Given the description of an element on the screen output the (x, y) to click on. 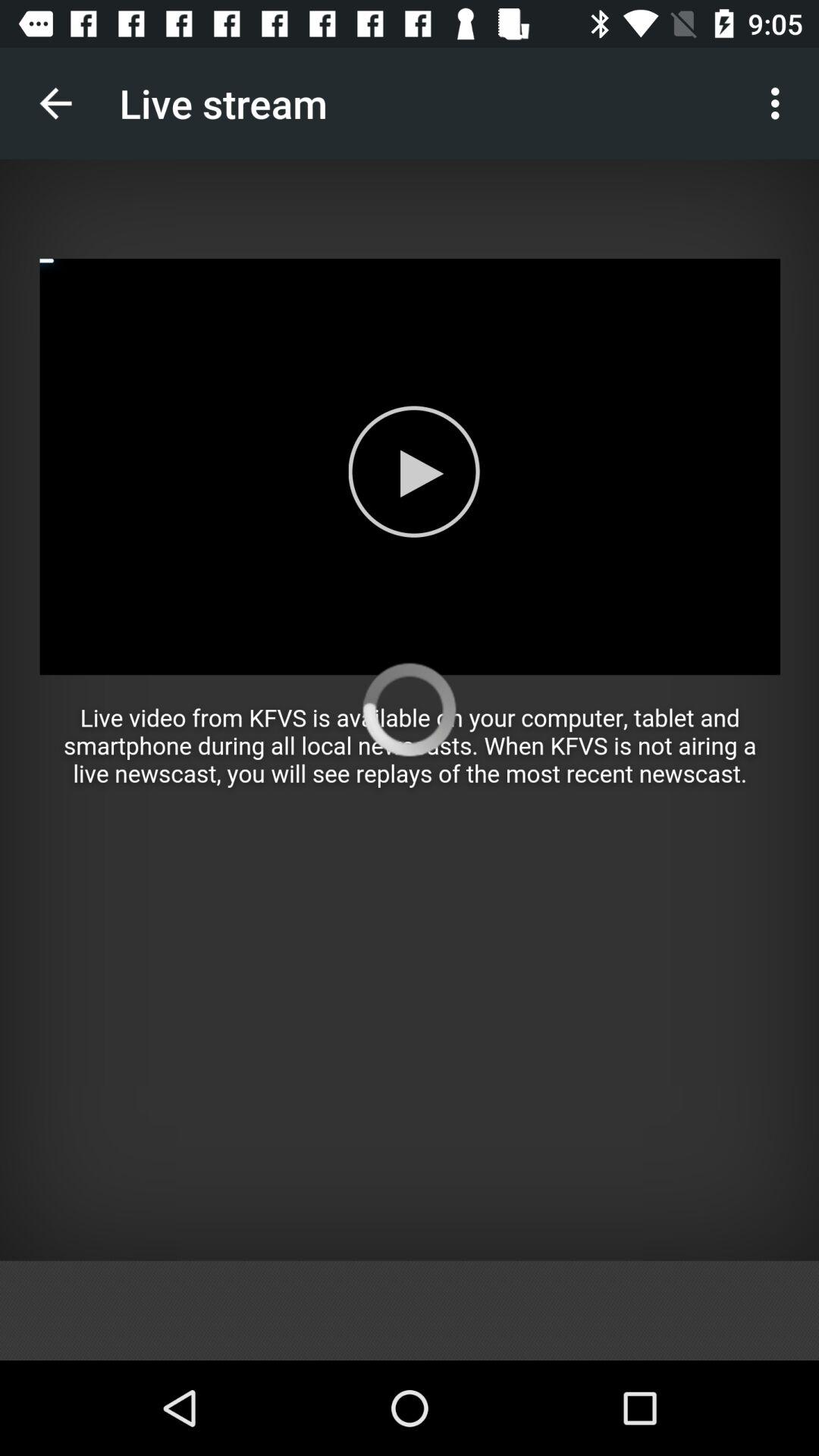
launch video (409, 709)
